Given the description of an element on the screen output the (x, y) to click on. 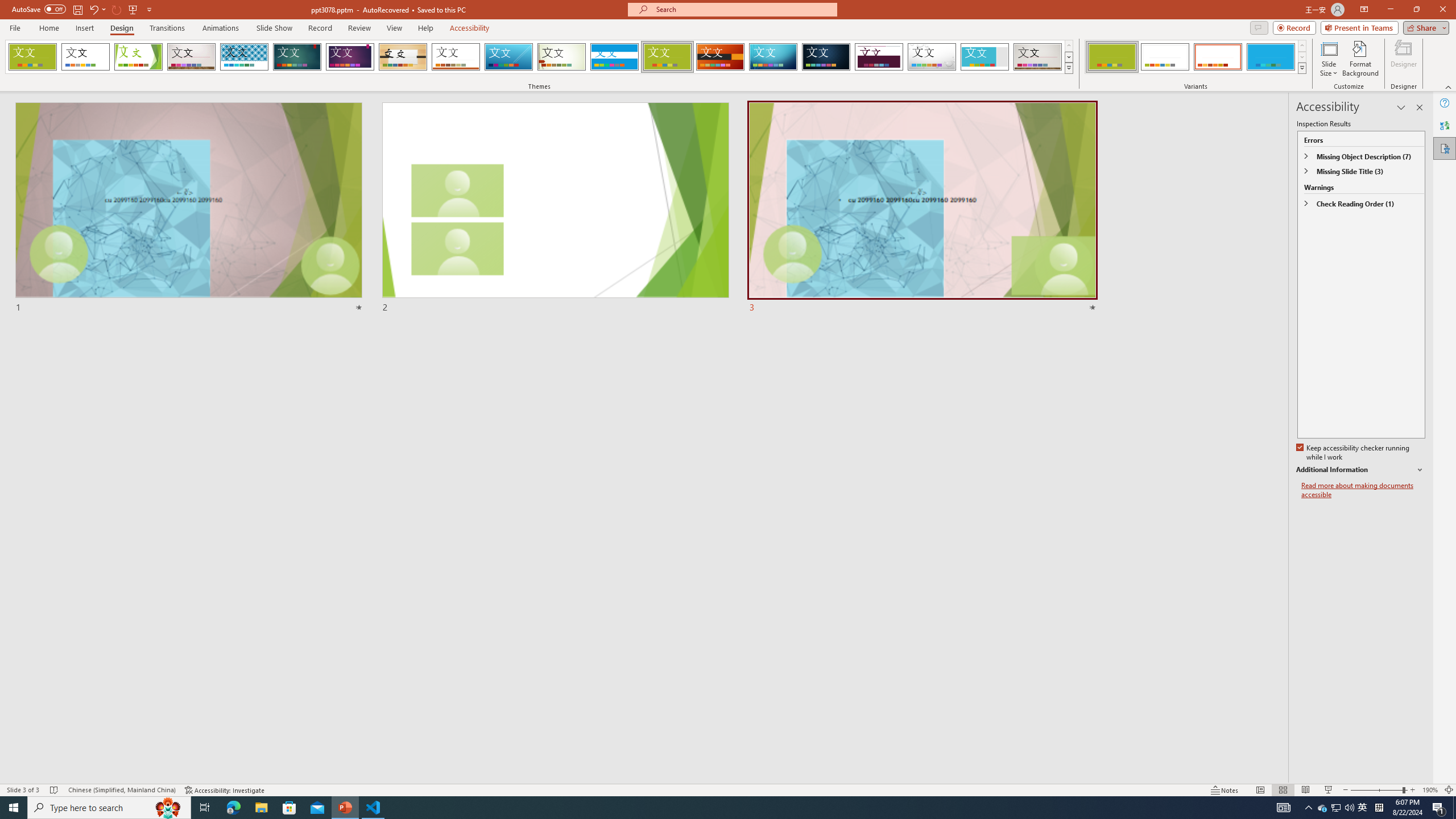
Basis Variant 2 (1164, 56)
Ion (296, 56)
Droplet (931, 56)
Retrospect (455, 56)
Basis (667, 56)
